Given the description of an element on the screen output the (x, y) to click on. 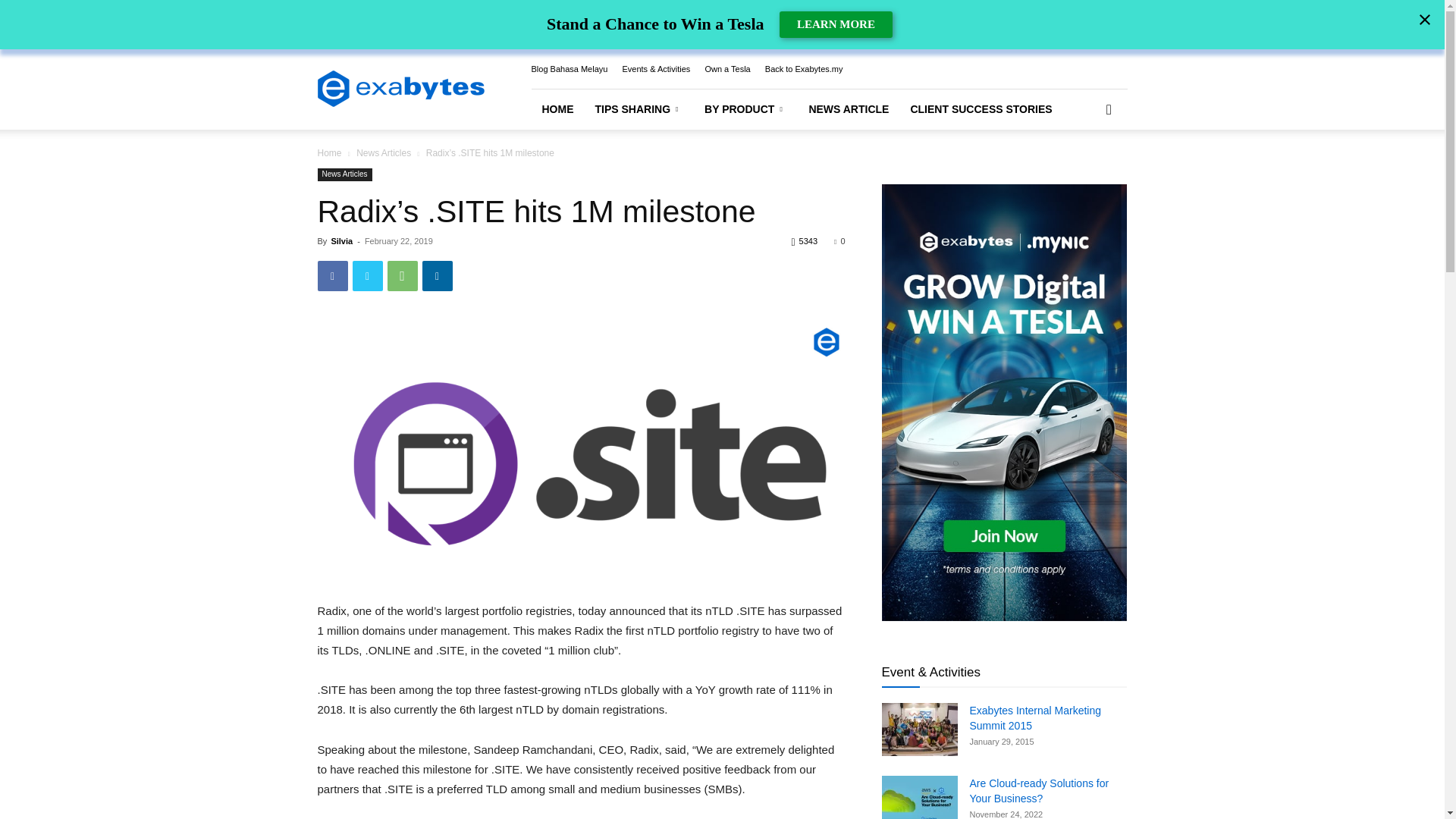
Blog Bahasa Melayu (569, 68)
Back to Exabytes.my (804, 68)
Own a Tesla (726, 68)
Exabytes Malaysia (400, 89)
